Given the description of an element on the screen output the (x, y) to click on. 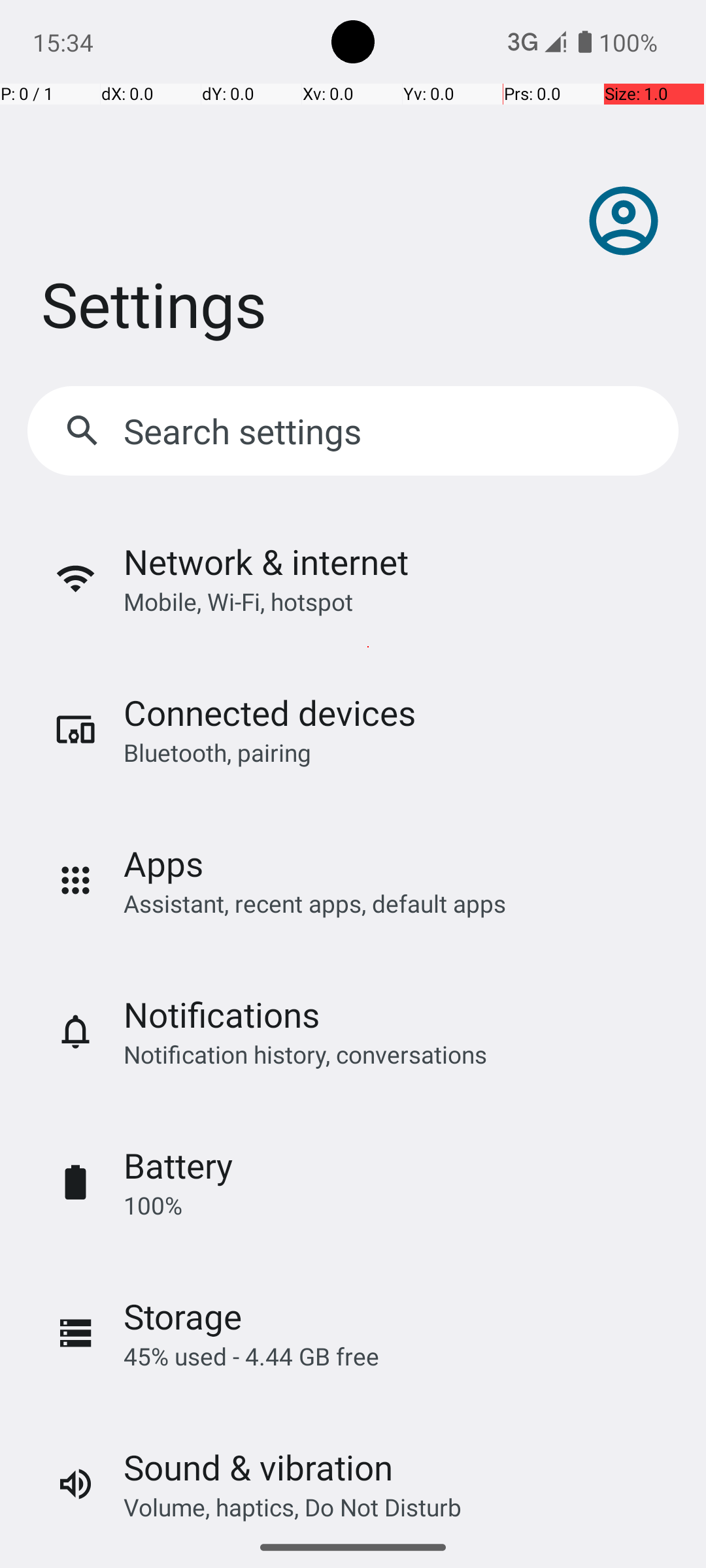
45% used - 4.44 GB free Element type: android.widget.TextView (251, 1355)
